Given the description of an element on the screen output the (x, y) to click on. 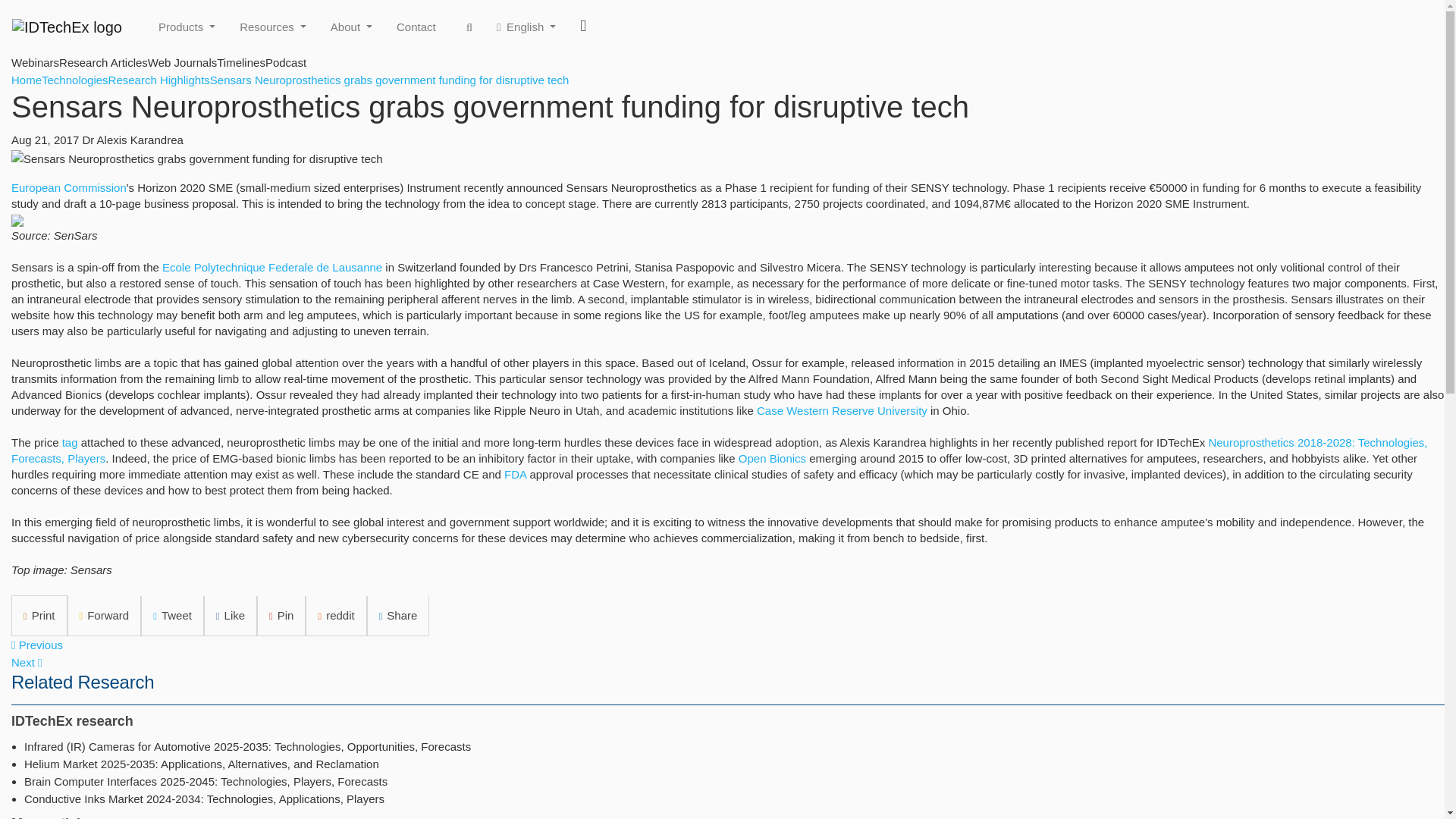
Resources (272, 26)
Contact (416, 26)
Share on Pinterest (281, 616)
Products (186, 26)
Share on LinkedIn (397, 616)
Share on Facebook (230, 616)
Share on Reddit (335, 616)
About (351, 26)
Forward to a Friend (103, 616)
  English (526, 26)
